Given the description of an element on the screen output the (x, y) to click on. 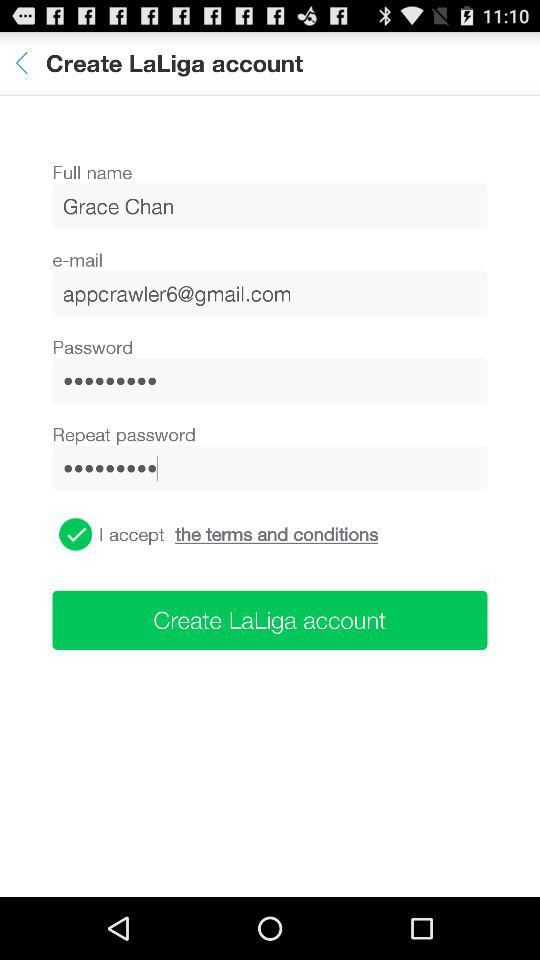
select icon above the create laliga account icon (75, 533)
